Given the description of an element on the screen output the (x, y) to click on. 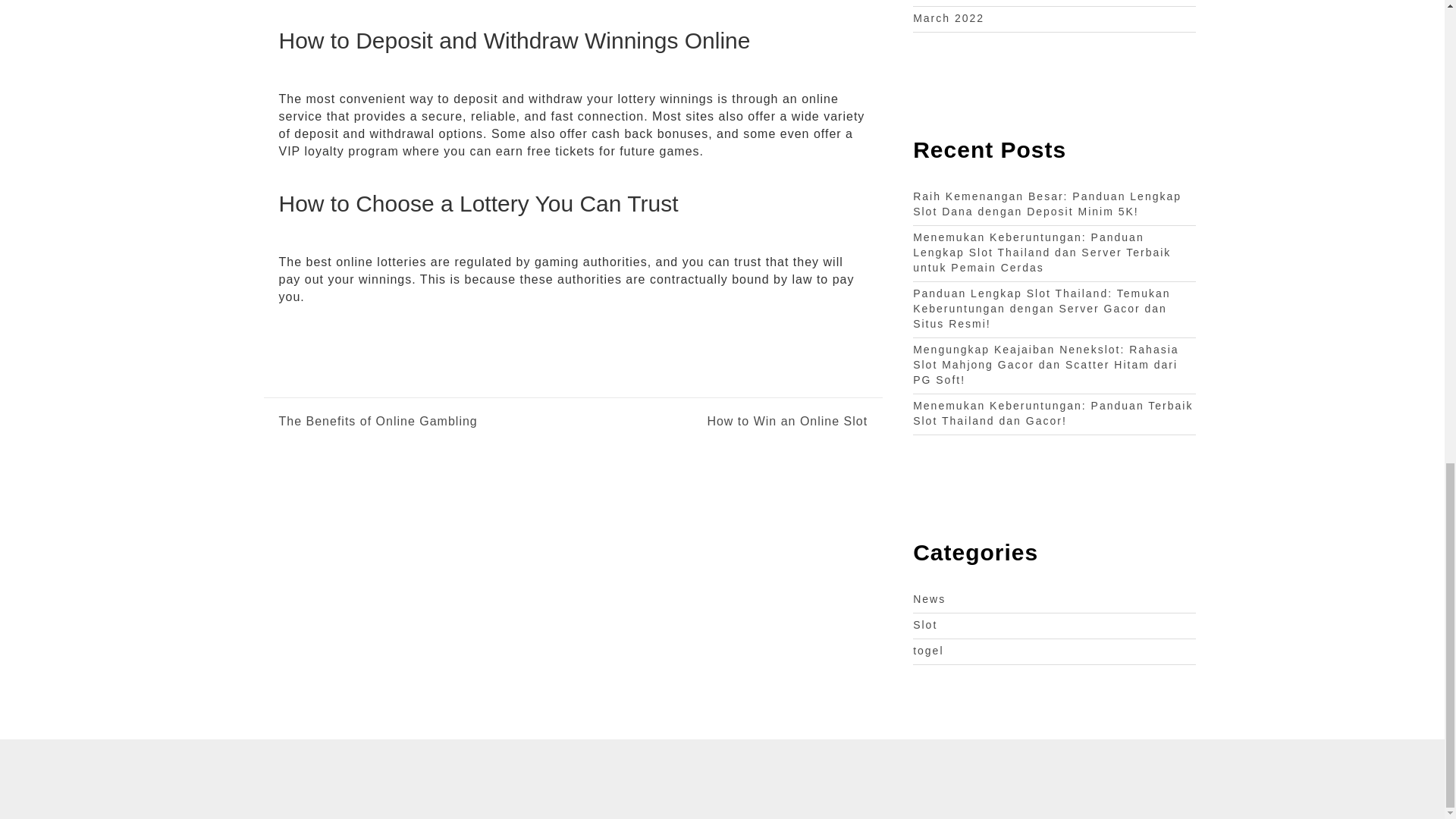
How to Win an Online Slot (720, 421)
March 2022 (948, 18)
The Benefits of Online Gambling (378, 421)
